Given the description of an element on the screen output the (x, y) to click on. 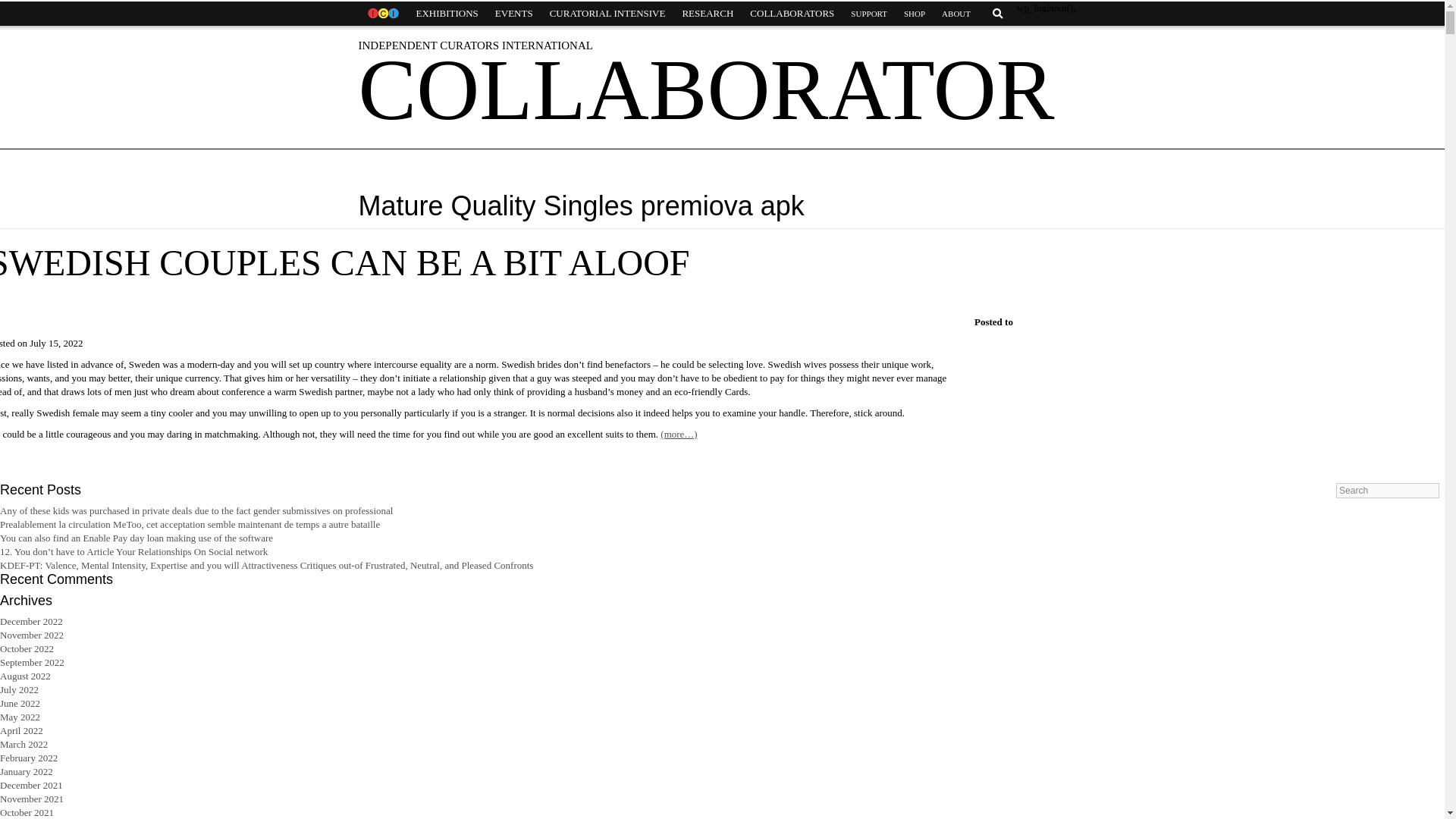
CURATORIAL INTENSIVE (607, 13)
HOME (382, 13)
EXHIBITIONS (446, 13)
EVENTS (513, 13)
COLLABORATORS (792, 13)
RESEARCH (706, 13)
